Given the description of an element on the screen output the (x, y) to click on. 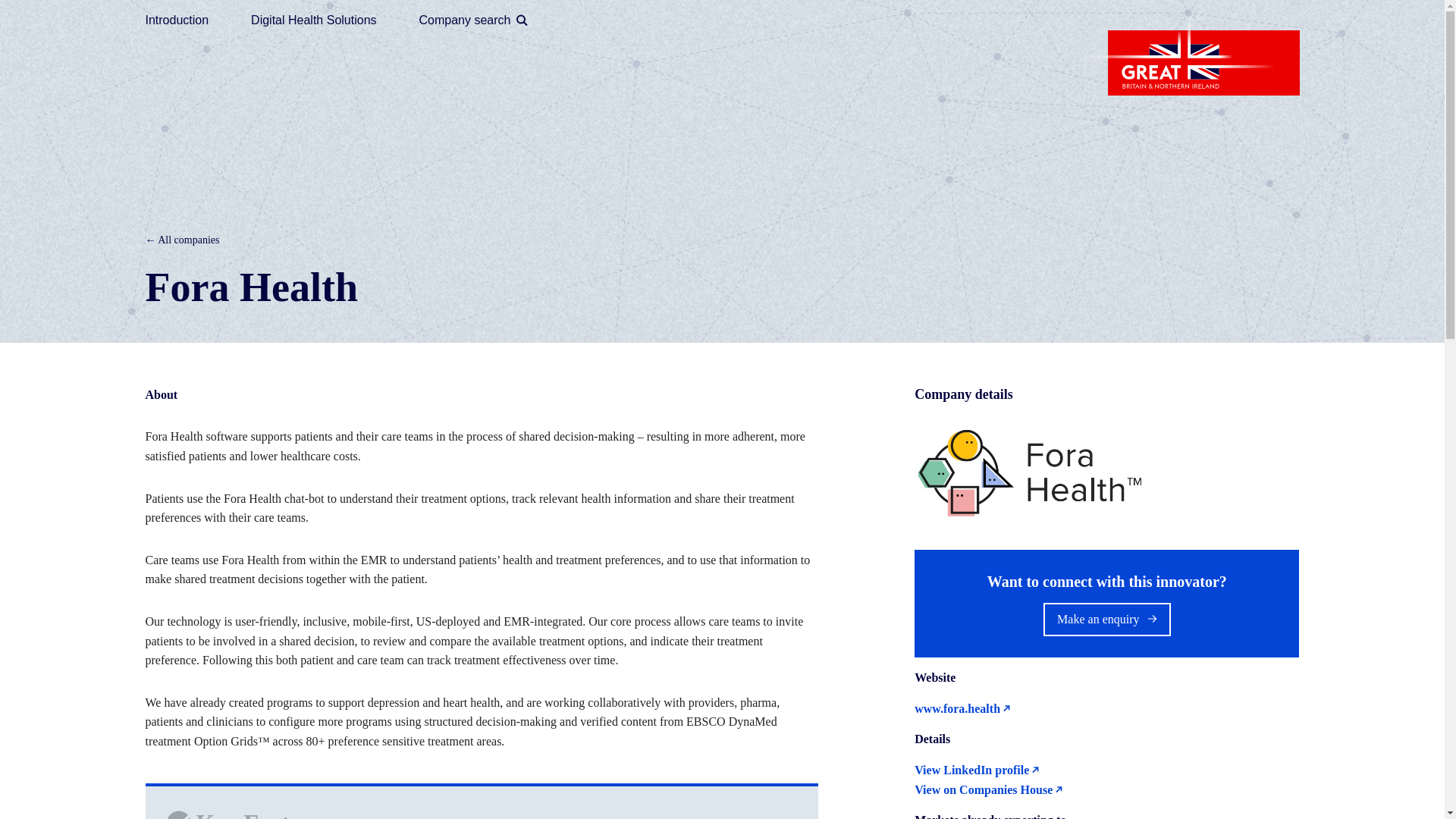
Company search (476, 15)
Introduction (177, 15)
View LinkedIn profile (1104, 770)
View on Companies House (1104, 790)
Digital Health Solutions (312, 15)
Make an enquiry (1106, 619)
www.fora.health (1104, 709)
